Given the description of an element on the screen output the (x, y) to click on. 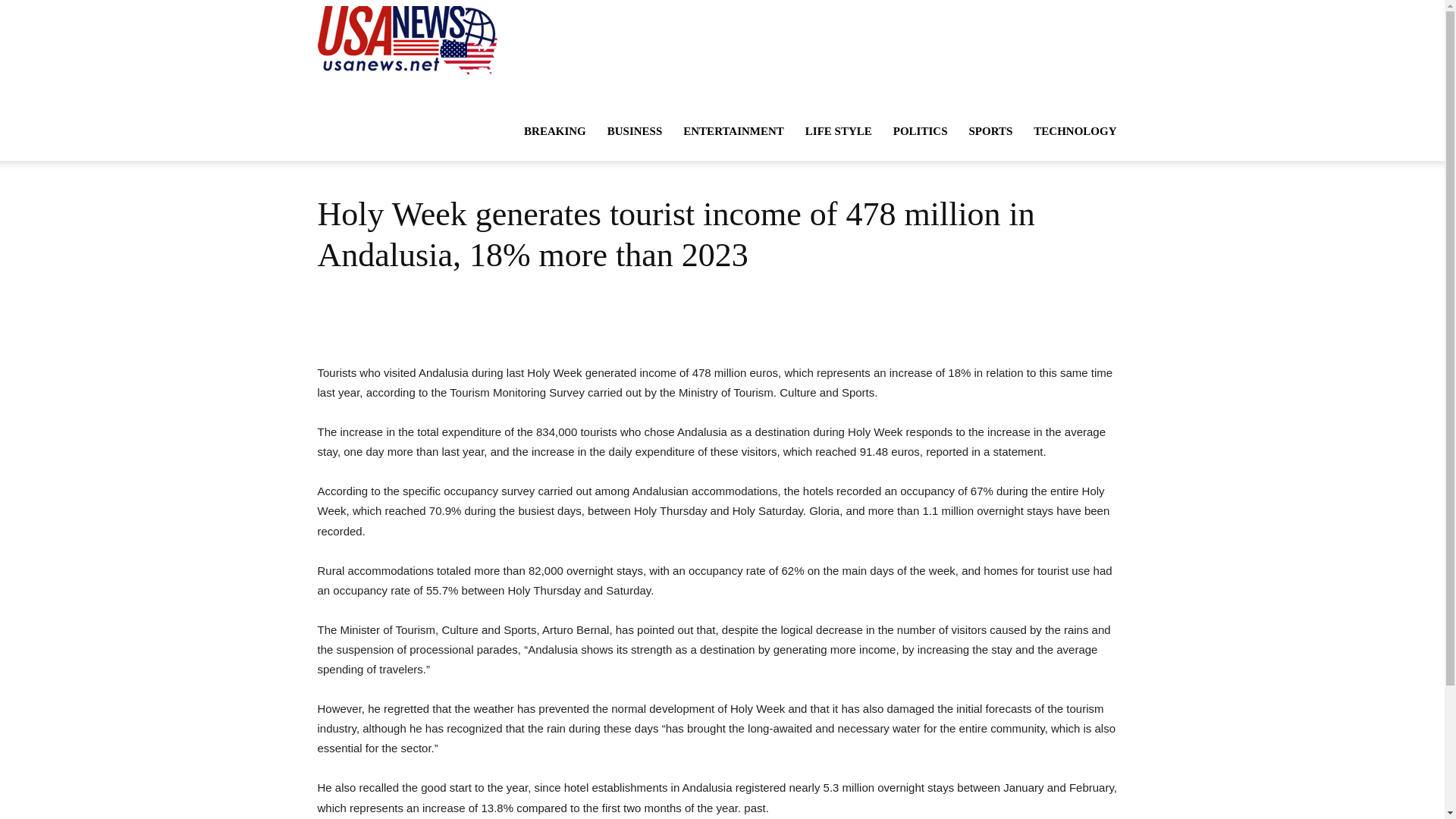
ENTERTAINMENT (733, 130)
TECHNOLOGY (1074, 130)
BREAKING (554, 130)
Headlines from America (407, 39)
SPORTS (990, 130)
BUSINESS (634, 130)
LIFE STYLE (838, 130)
Daily News and Headlines from US (407, 39)
POLITICS (920, 130)
